Given the description of an element on the screen output the (x, y) to click on. 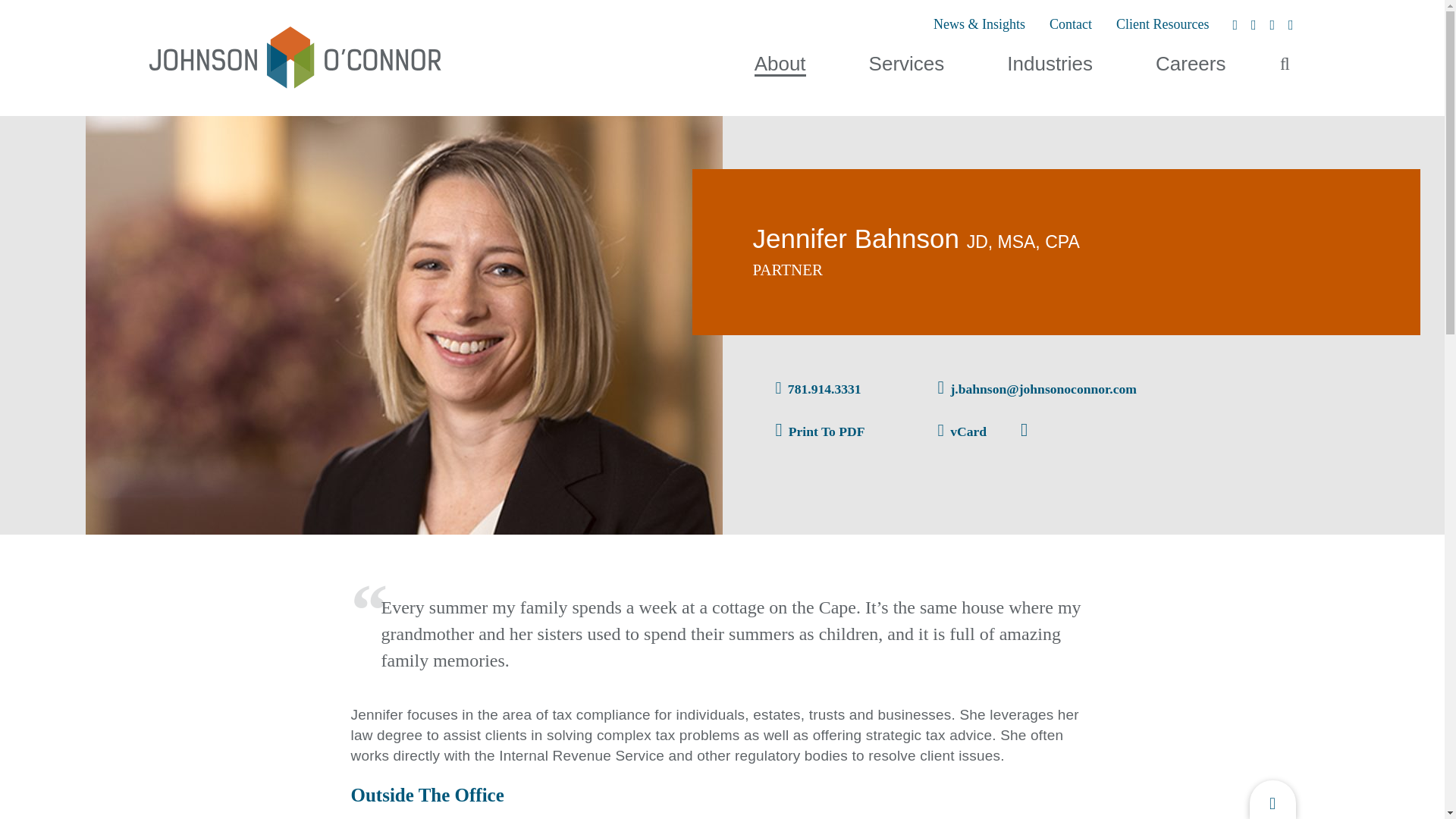
Facebook (1253, 25)
LinkedIn (1272, 25)
Instagram (1291, 25)
781.914.3331 (817, 388)
Twitter (1235, 25)
About (780, 63)
Industries (1050, 63)
Careers (1190, 63)
Contact (1070, 24)
Services (906, 63)
Client Resources (1162, 24)
